Given the description of an element on the screen output the (x, y) to click on. 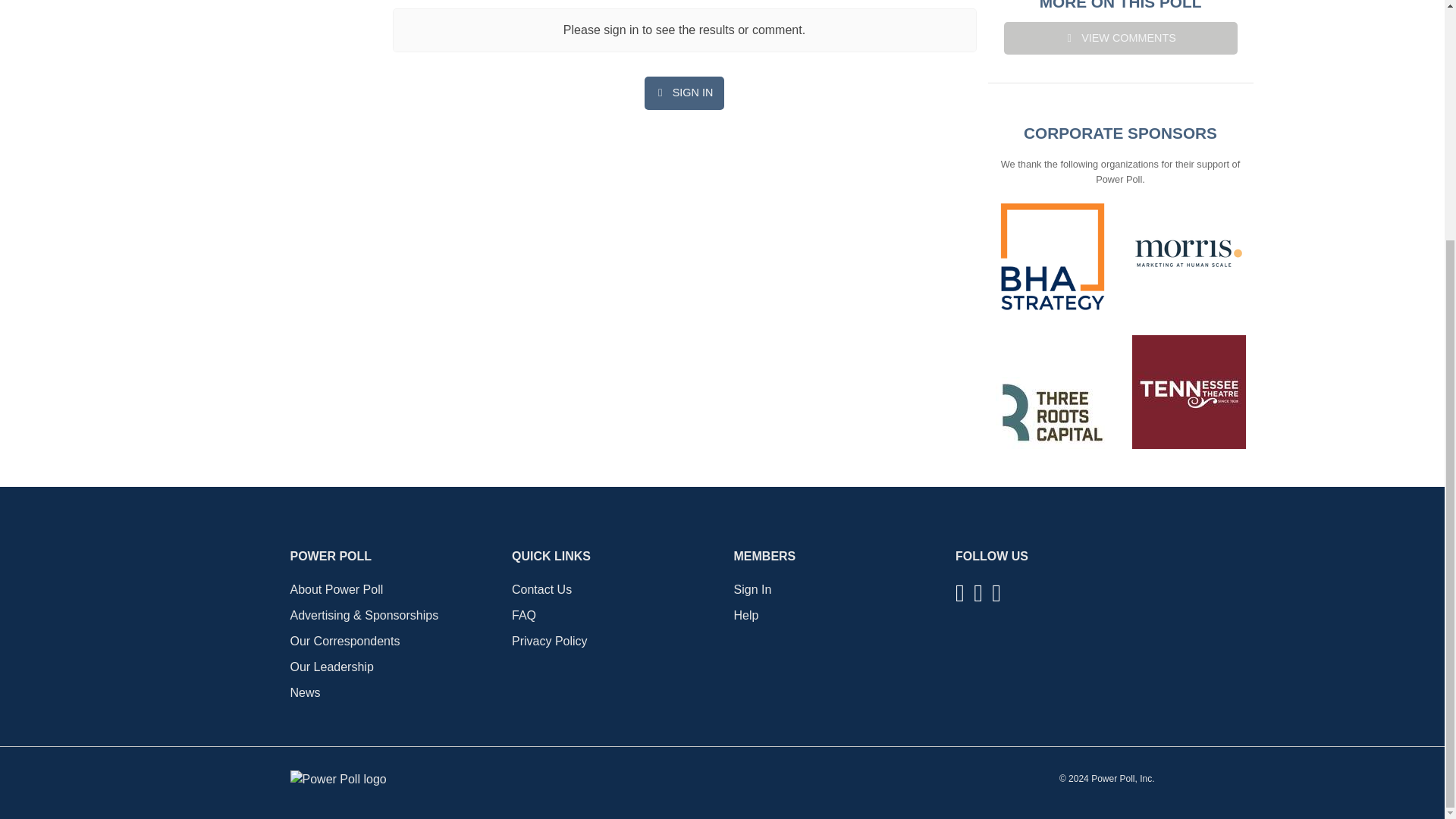
Privacy Policy (550, 640)
Our Leadership (330, 666)
The Tennessee Theatre Logo (1187, 391)
Help (745, 615)
VIEW COMMENTS (1120, 38)
FAQ (523, 615)
Sign In (752, 589)
BHA Strategy Logo (1051, 256)
About Power Poll (335, 589)
Contact Us (542, 589)
